Given the description of an element on the screen output the (x, y) to click on. 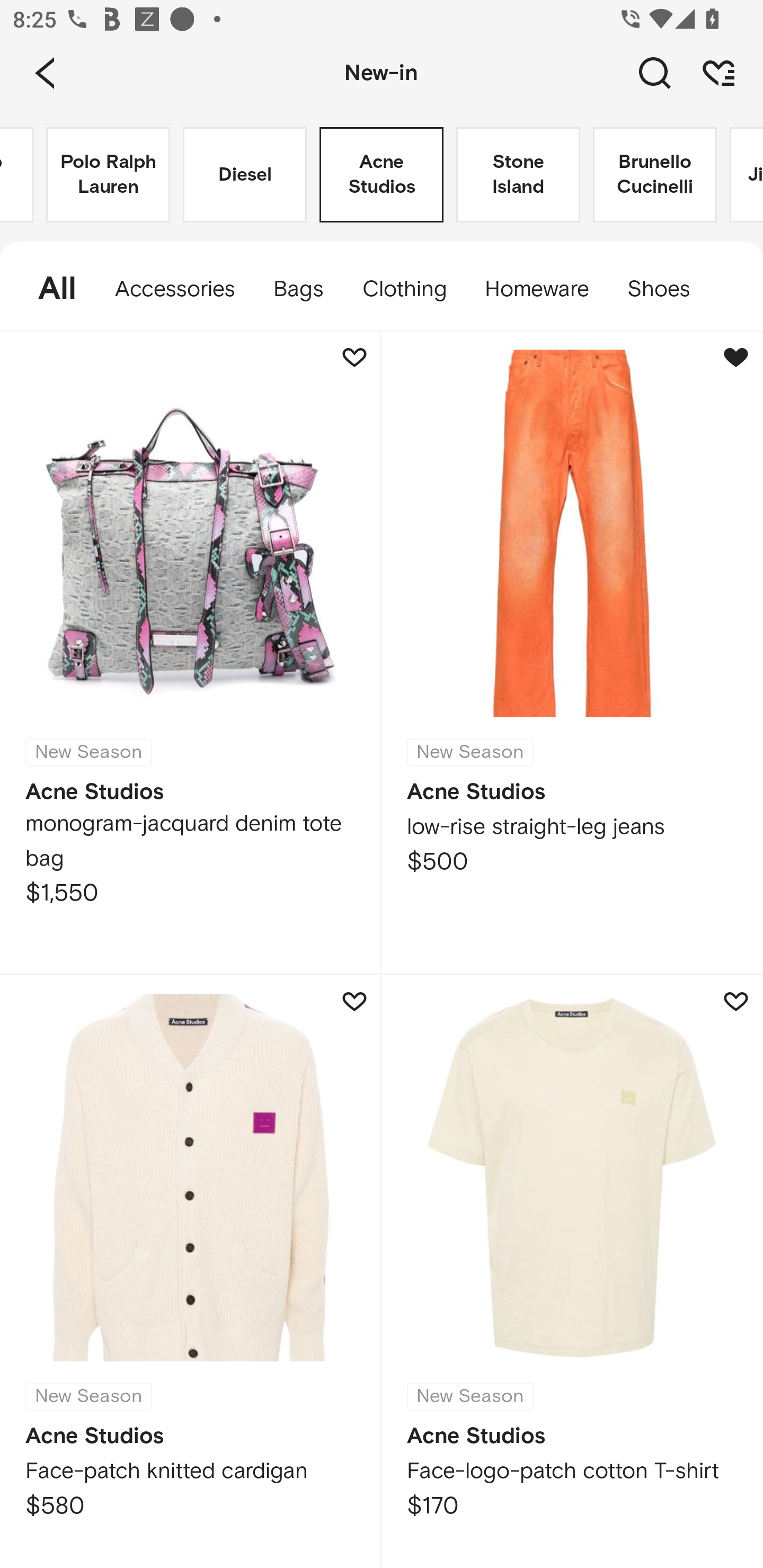
Philipp Plein (16, 174)
Diesel (244, 174)
Acne Studios (381, 174)
Stone Island (517, 174)
Brunello Cucinelli (654, 174)
All (47, 288)
Accessories (174, 288)
Bags (298, 288)
Clothing (403, 288)
Homeware (536, 288)
Shoes (668, 288)
